Given the description of an element on the screen output the (x, y) to click on. 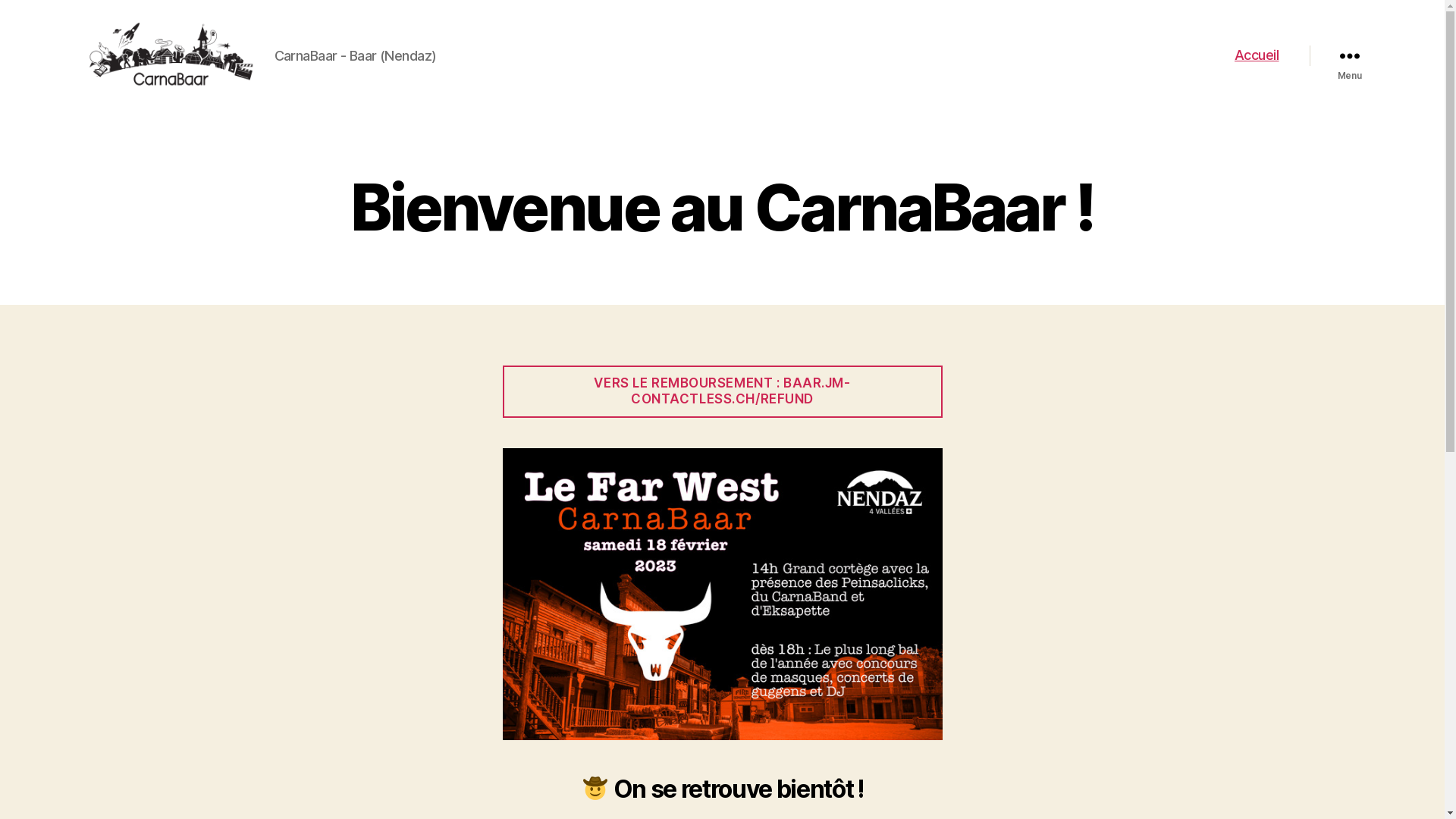
Menu Element type: text (1348, 55)
VERS LE REMBOURSEMENT : BAAR.JM-CONTACTLESS.CH/REFUND Element type: text (721, 391)
Accueil Element type: text (1256, 55)
